Given the description of an element on the screen output the (x, y) to click on. 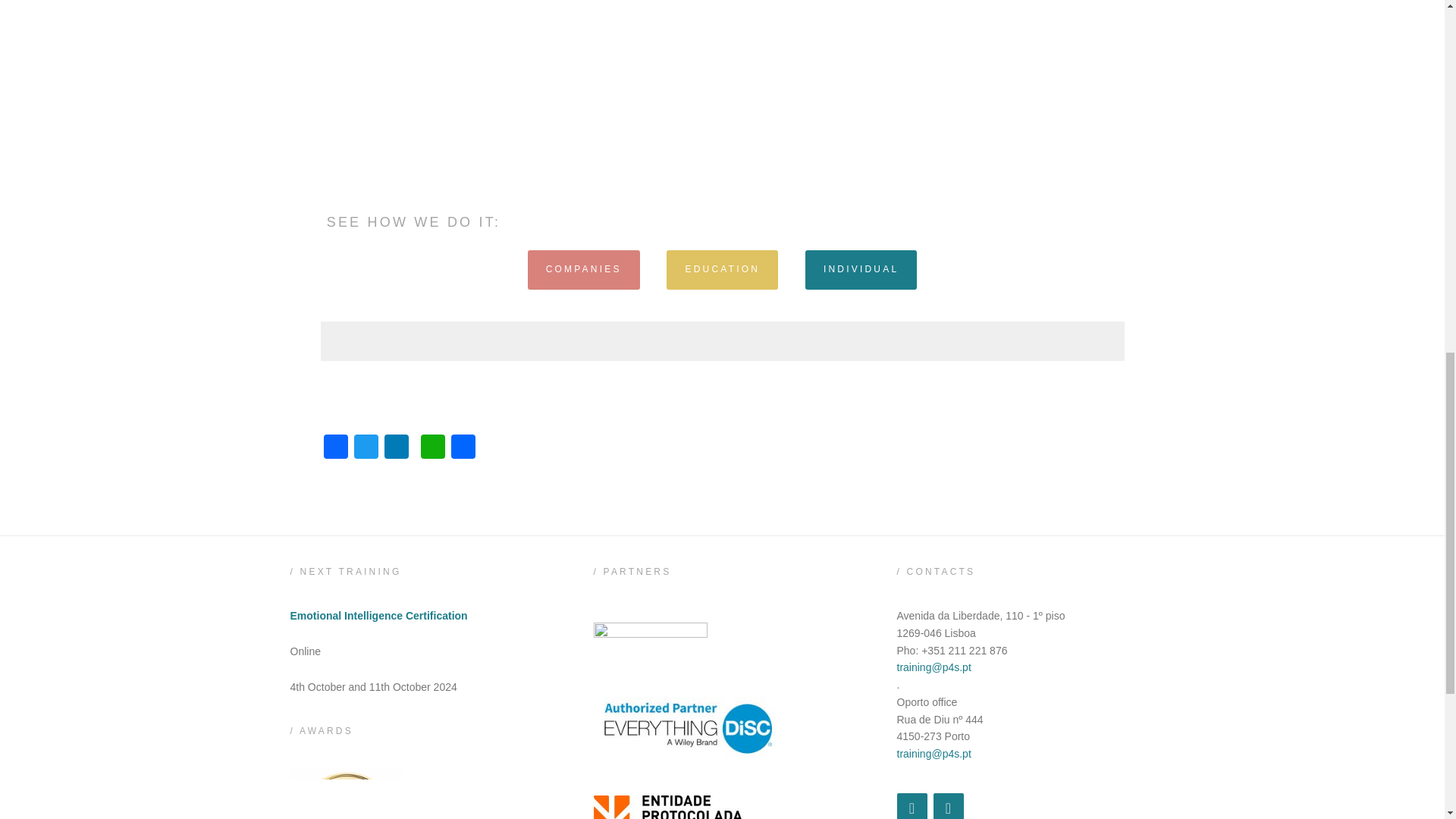
LinkedIn (395, 448)
LinkedIn (911, 806)
Facebook (947, 806)
INDIVIDUAL (861, 269)
Twitter (365, 448)
COMPANIES (583, 269)
Facebook (335, 448)
EDUCATION (721, 269)
WhatsApp (431, 448)
